Given the description of an element on the screen output the (x, y) to click on. 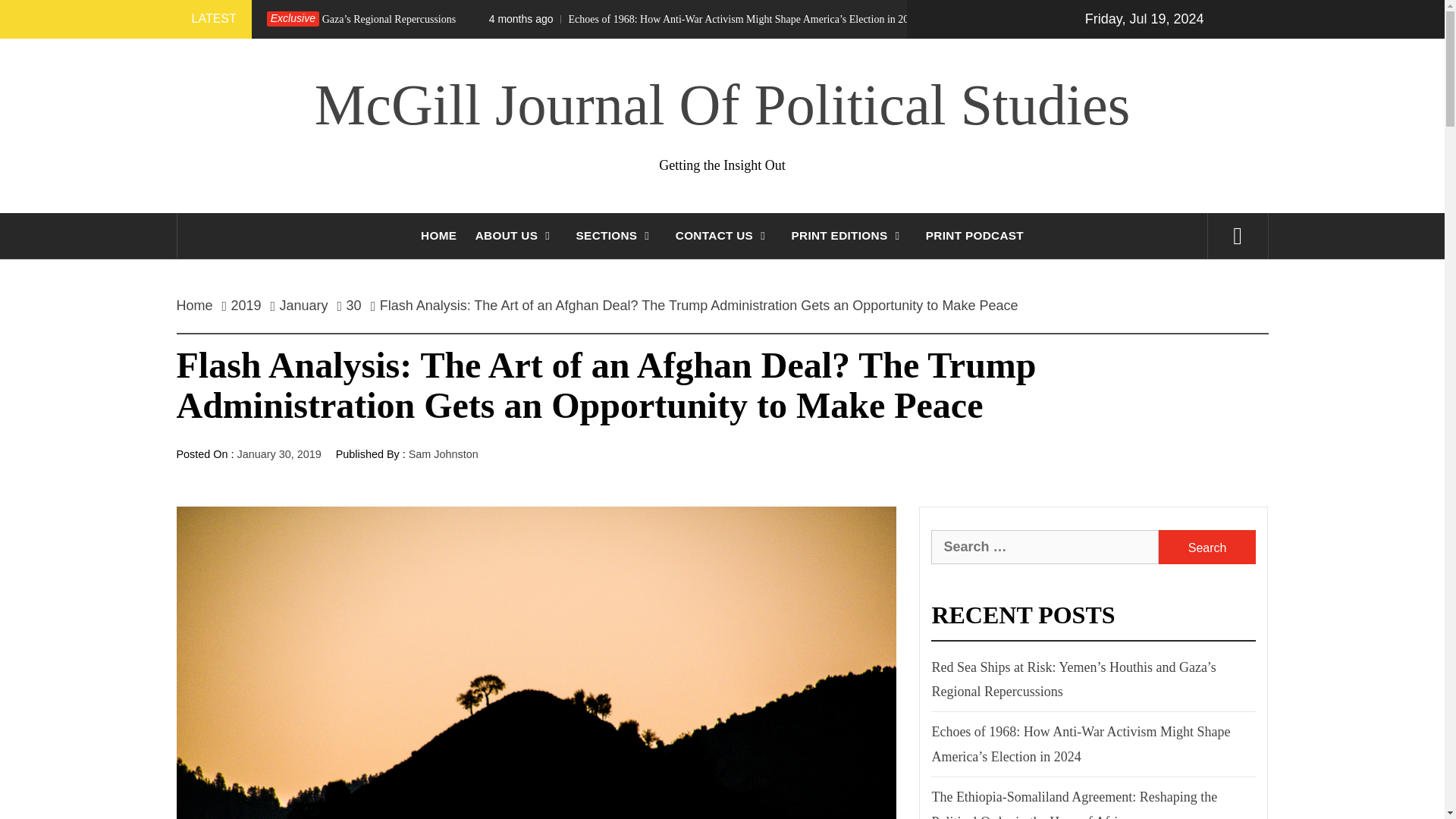
ABOUT US (515, 235)
HOME (438, 235)
McGill Journal Of Political Studies (721, 104)
Search (1206, 546)
Search (1206, 546)
SECTIONS (617, 235)
